Given the description of an element on the screen output the (x, y) to click on. 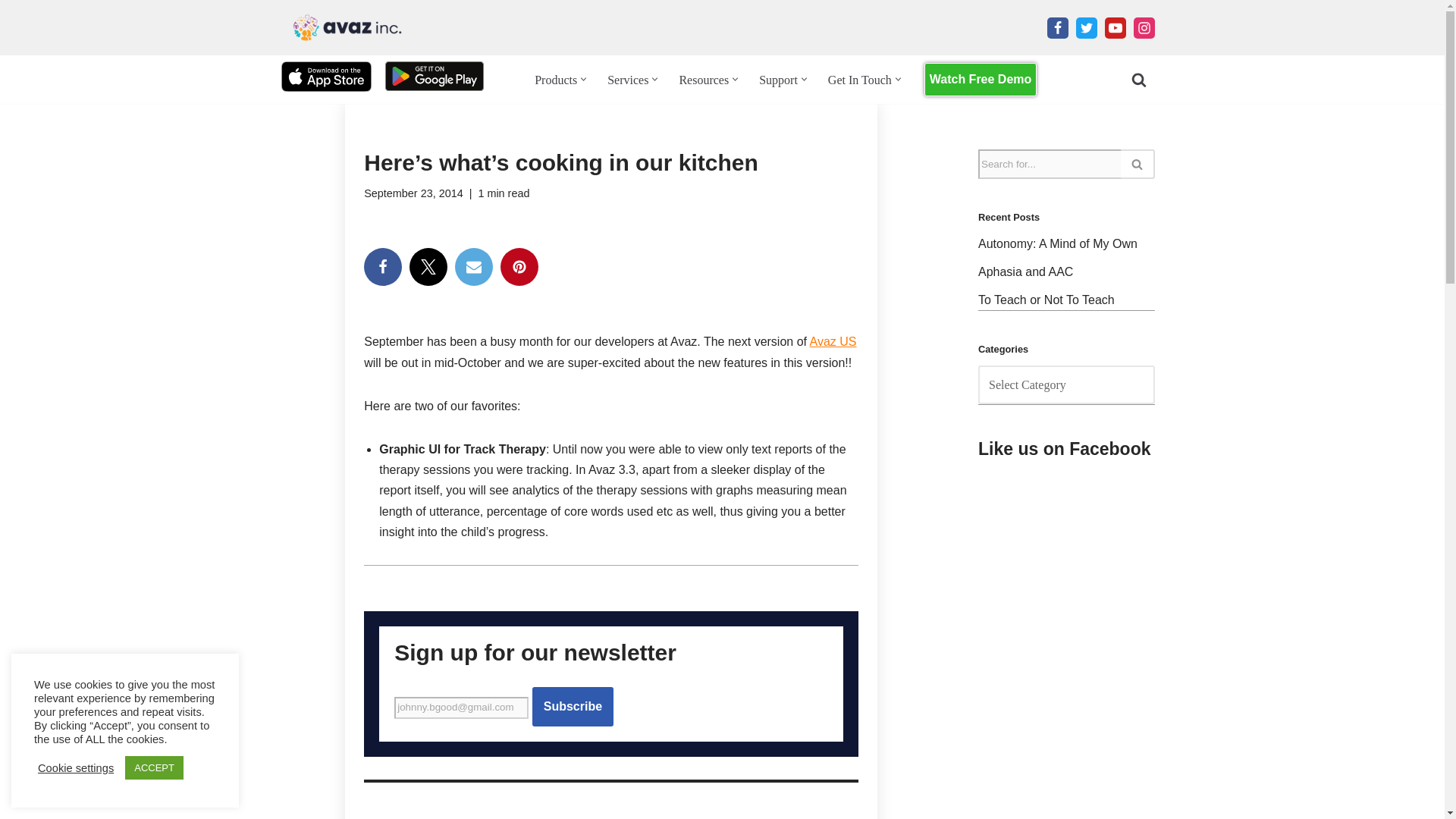
Support (777, 79)
Facebook (382, 266)
Get In Touch (859, 79)
Email (473, 266)
Pinterest (519, 266)
Instagram (1143, 27)
Resources (703, 79)
Services (627, 79)
Twitter (1085, 27)
Facebook (1056, 27)
Youtube (1114, 27)
Watch Free Demo (980, 79)
Products (555, 79)
Skip to content (11, 31)
Subscribe (572, 706)
